Given the description of an element on the screen output the (x, y) to click on. 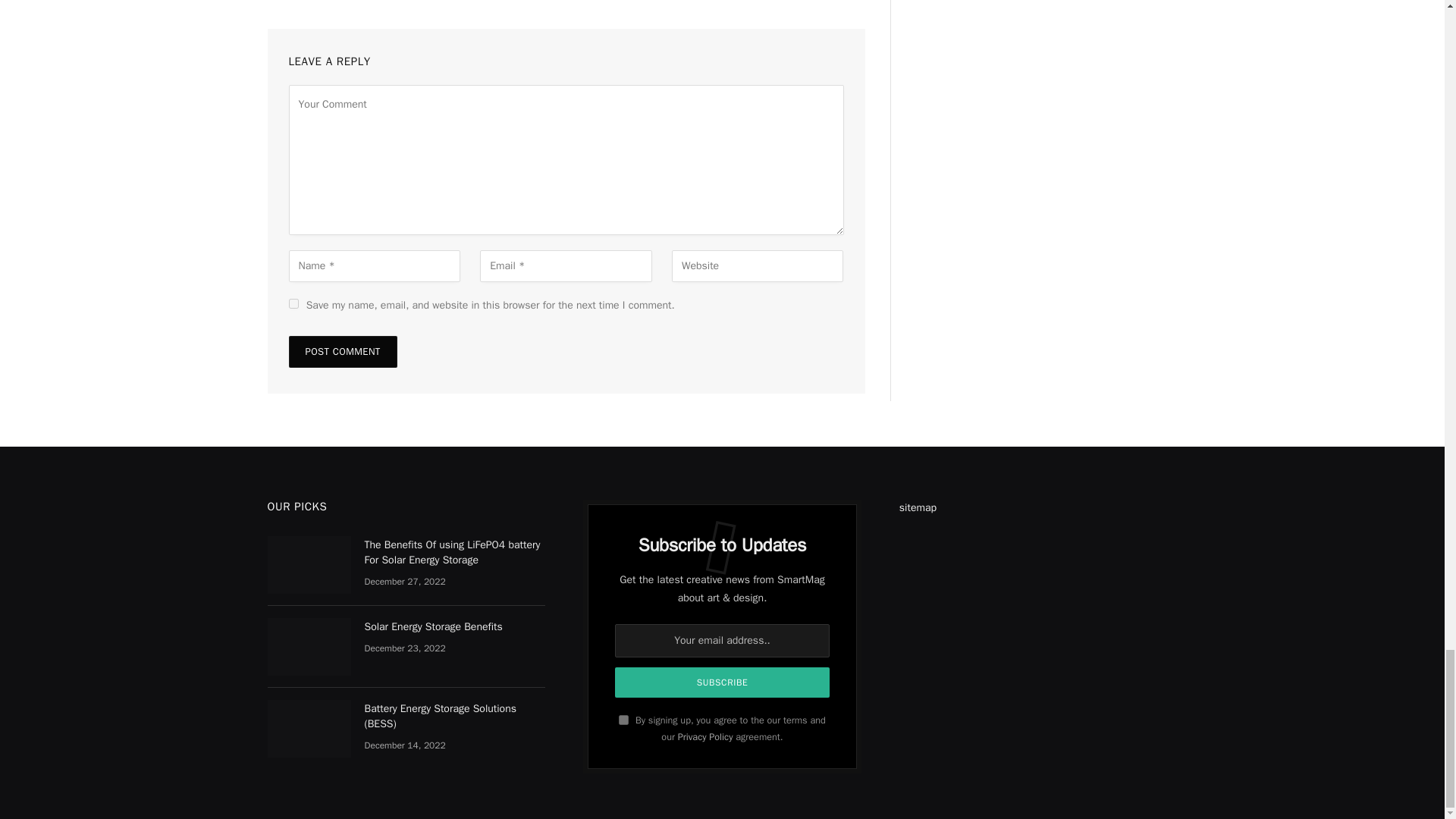
Subscribe (721, 682)
Post Comment (342, 351)
yes (293, 303)
on (623, 719)
